Given the description of an element on the screen output the (x, y) to click on. 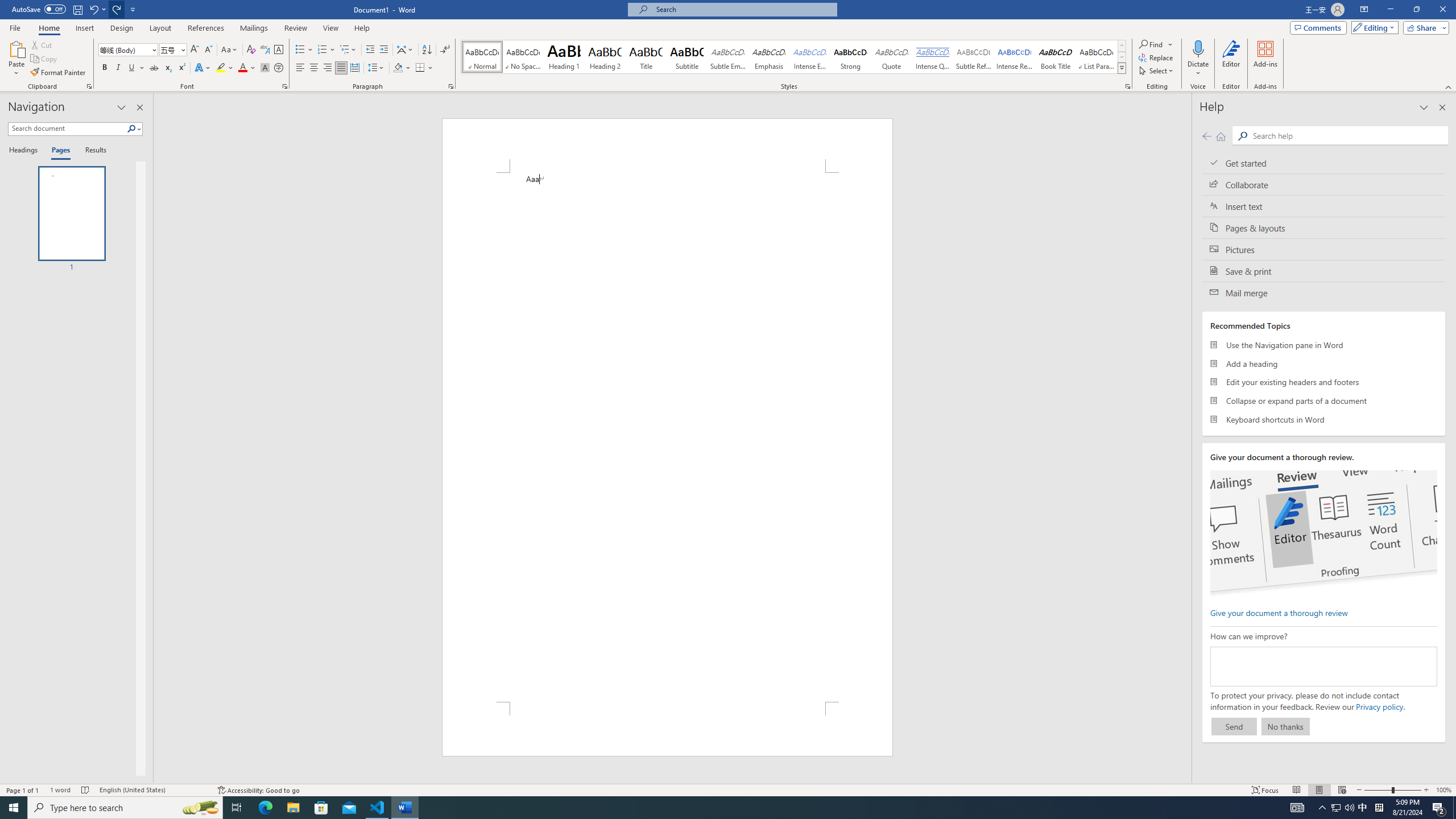
Paste (16, 58)
Emphasis (768, 56)
Zoom In (1426, 790)
Language English (United States) (152, 790)
Pages (59, 150)
Search document (66, 128)
Bold (104, 67)
Mode (1372, 27)
Character Shading (264, 67)
Superscript (180, 67)
Insert text (1323, 206)
Strikethrough (154, 67)
